Given the description of an element on the screen output the (x, y) to click on. 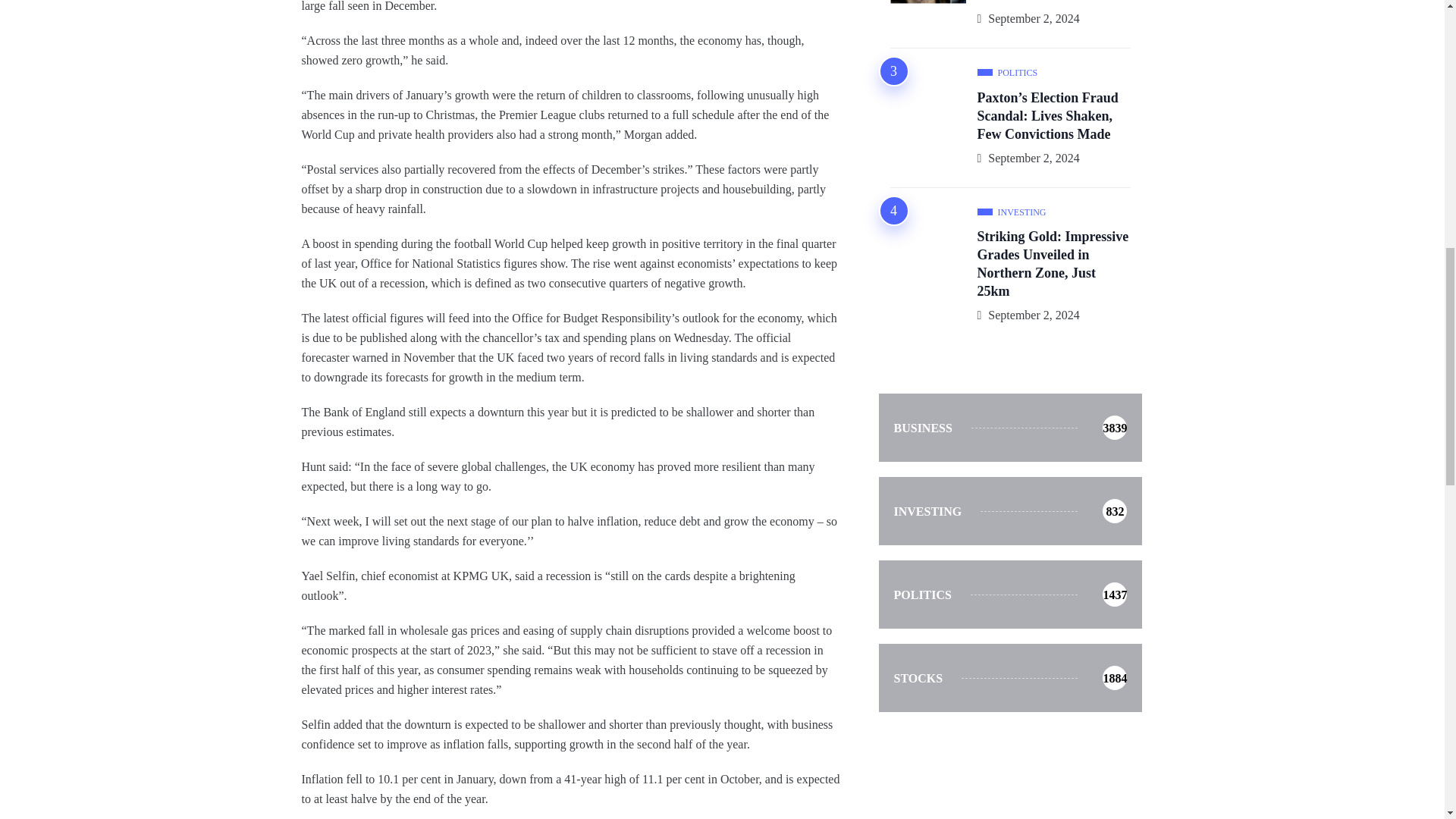
INVESTING (1009, 594)
POLITICS (1010, 212)
